Given the description of an element on the screen output the (x, y) to click on. 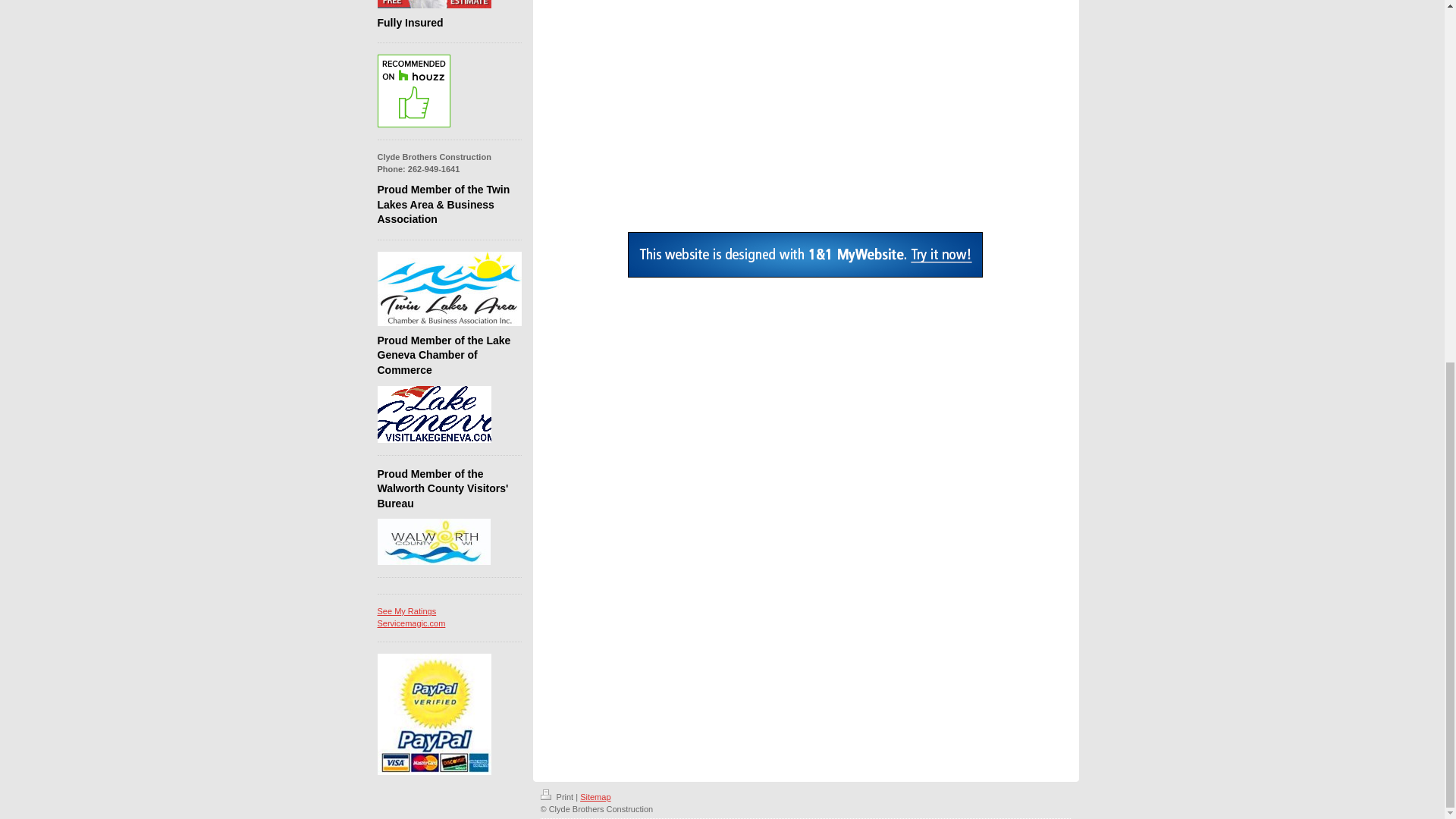
Sitemap (594, 796)
Print (411, 616)
